Given the description of an element on the screen output the (x, y) to click on. 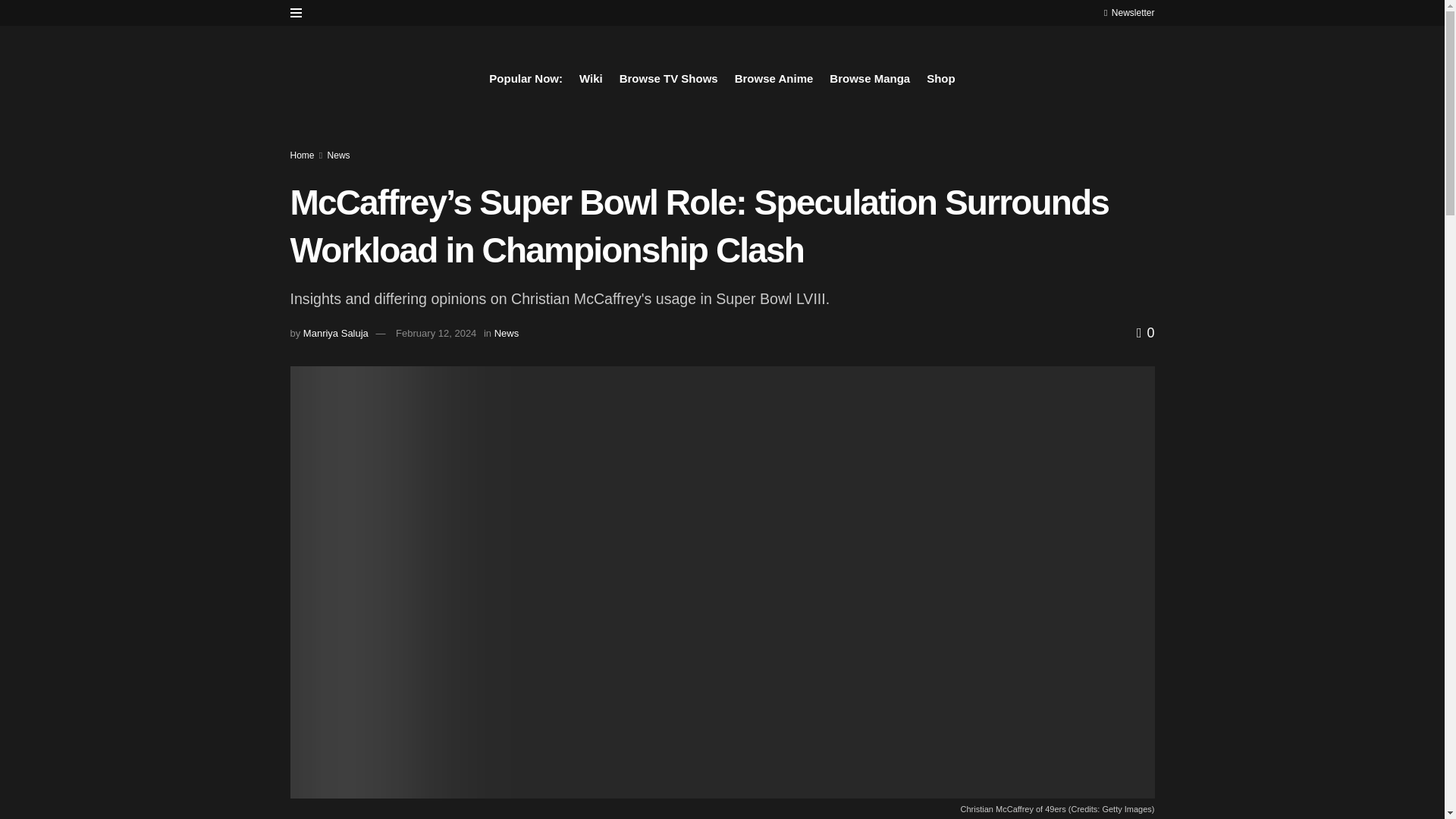
Manriya Saluja (335, 333)
Popular Now: (525, 78)
Home (301, 154)
News (338, 154)
Browse TV Shows (668, 78)
Newsletter (1128, 12)
February 12, 2024 (436, 333)
0 (1145, 332)
News (507, 333)
Browse Manga (869, 78)
